Given the description of an element on the screen output the (x, y) to click on. 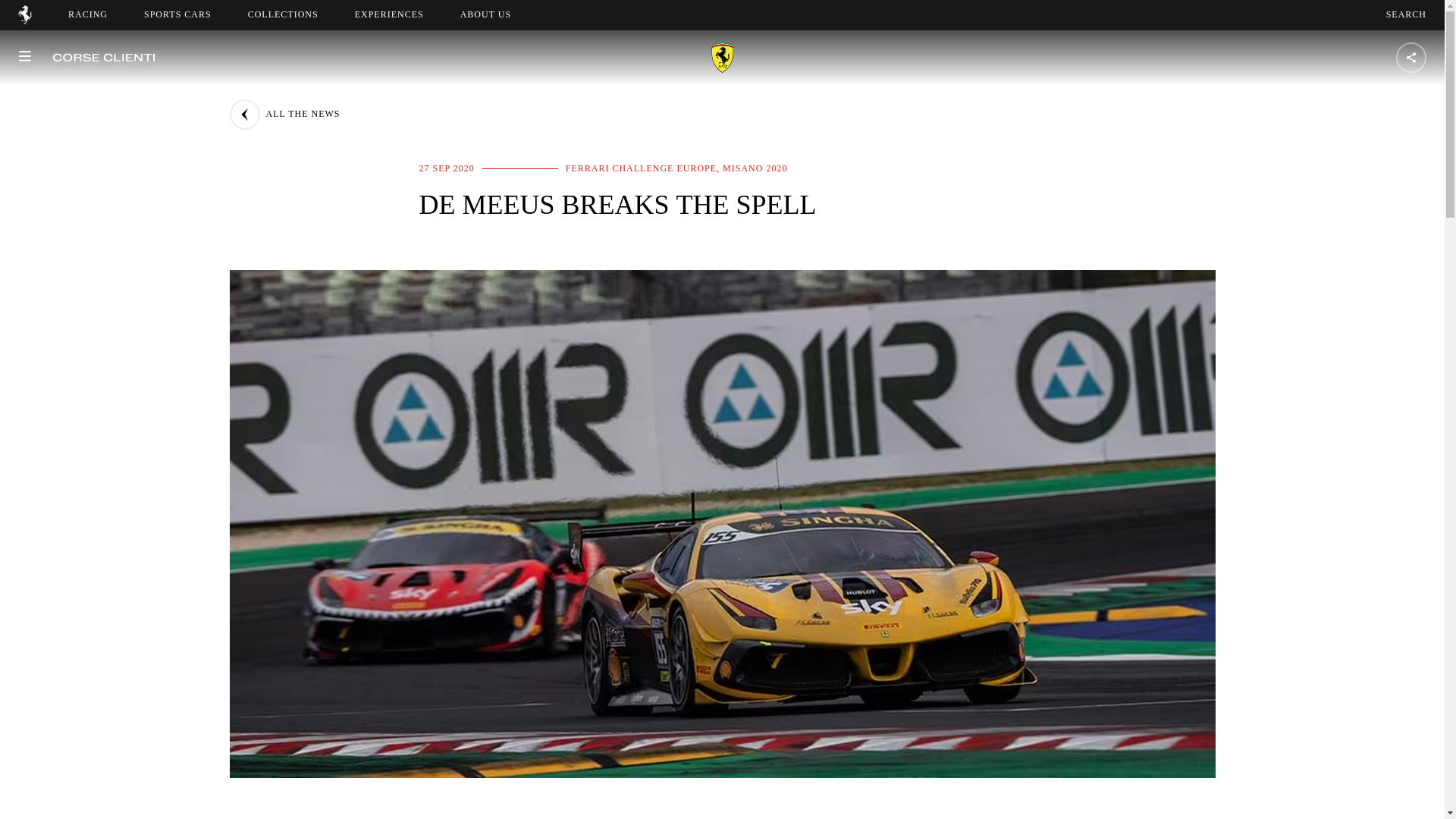
COLLECTIONS (282, 14)
SEARCH (499, 14)
SPORTS CARS (1406, 14)
RACING (177, 14)
EXPERIENCES (87, 14)
Ferrari logo (389, 14)
ABOUT US (24, 19)
ALL THE NEWS (485, 14)
